Given the description of an element on the screen output the (x, y) to click on. 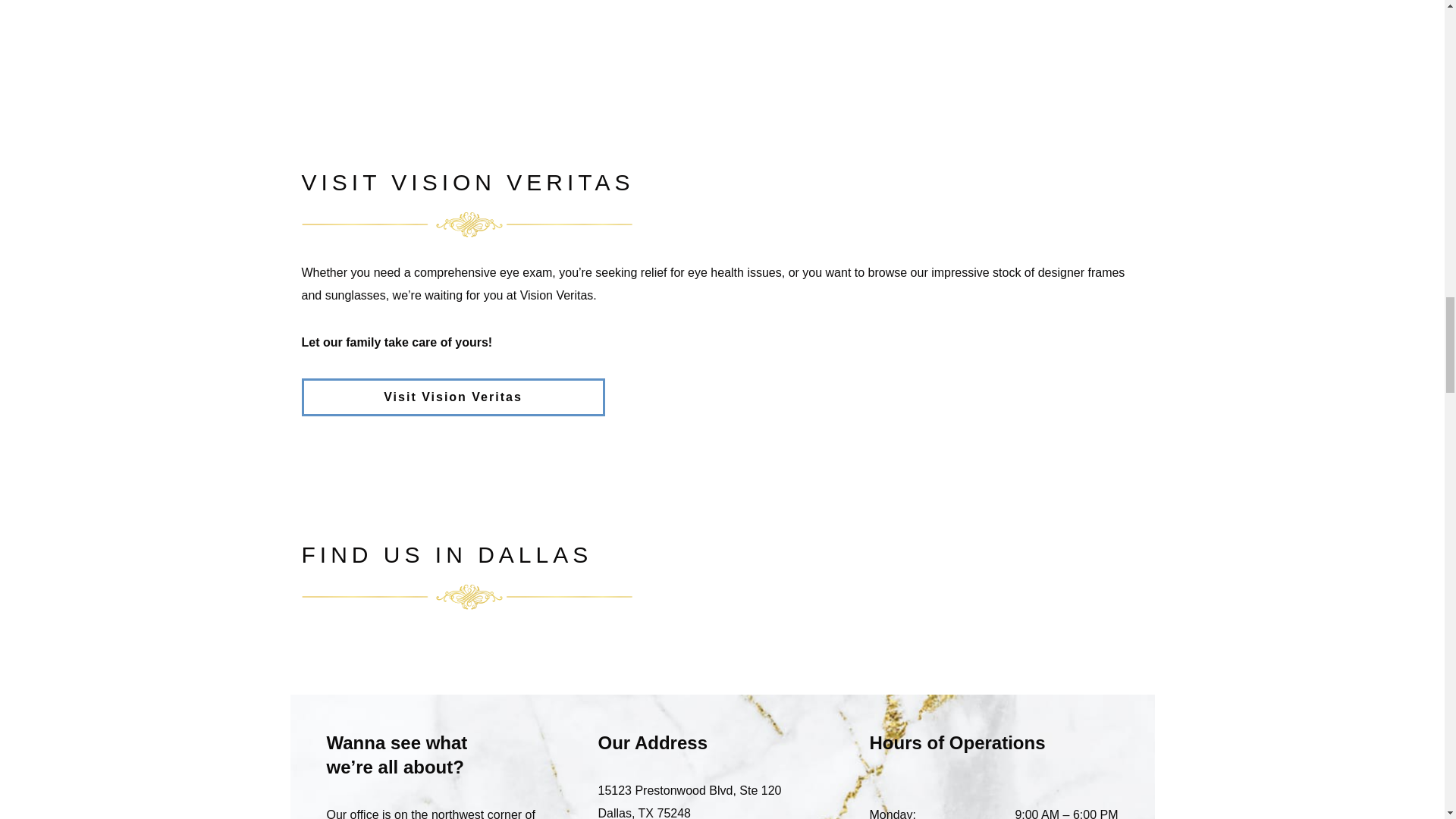
Visit Vision Veritas (453, 397)
